Given the description of an element on the screen output the (x, y) to click on. 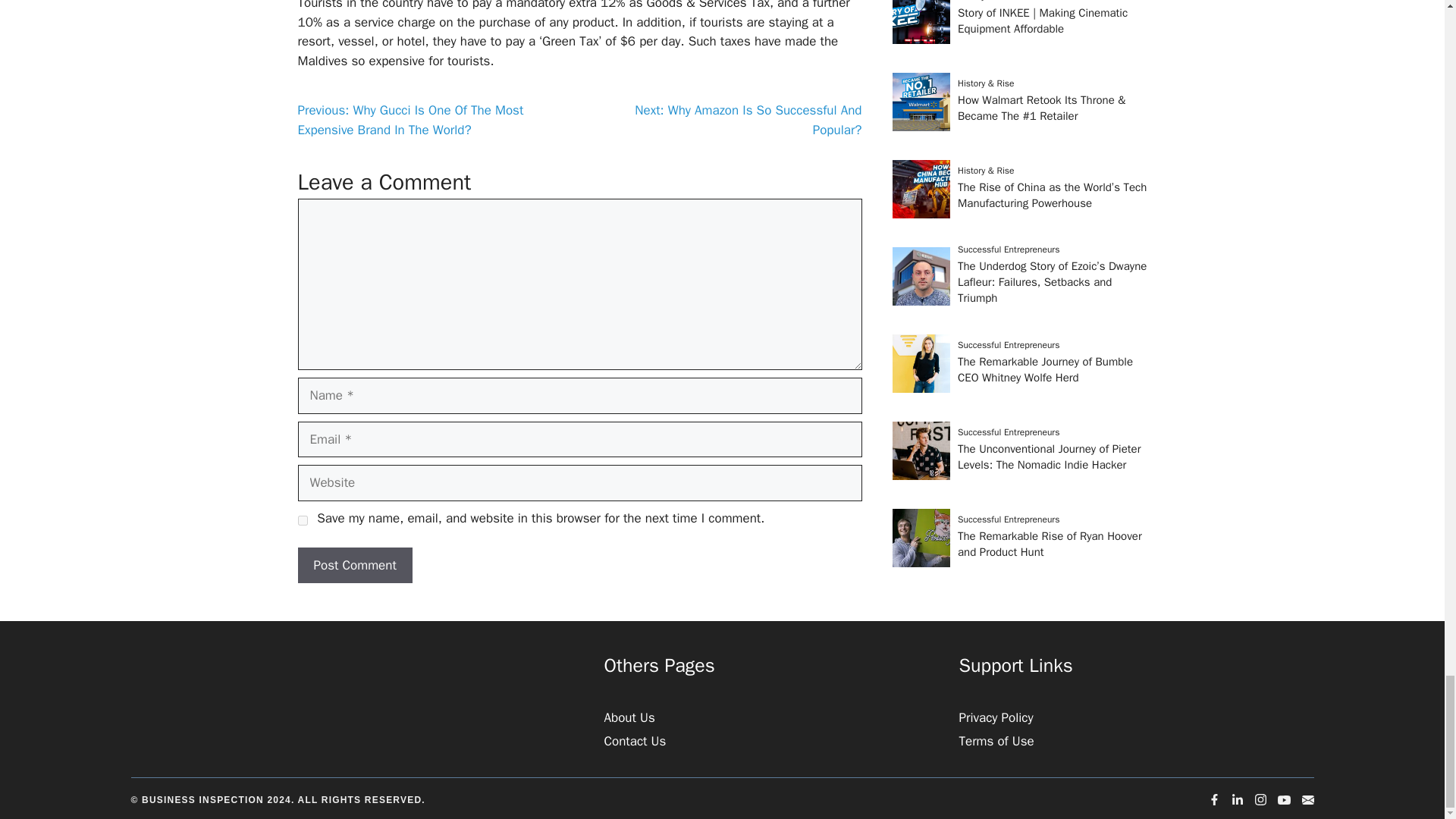
yes (302, 520)
Post Comment (354, 565)
Next: Why Amazon Is So Successful And Popular? (747, 120)
Post Comment (354, 565)
